Given the description of an element on the screen output the (x, y) to click on. 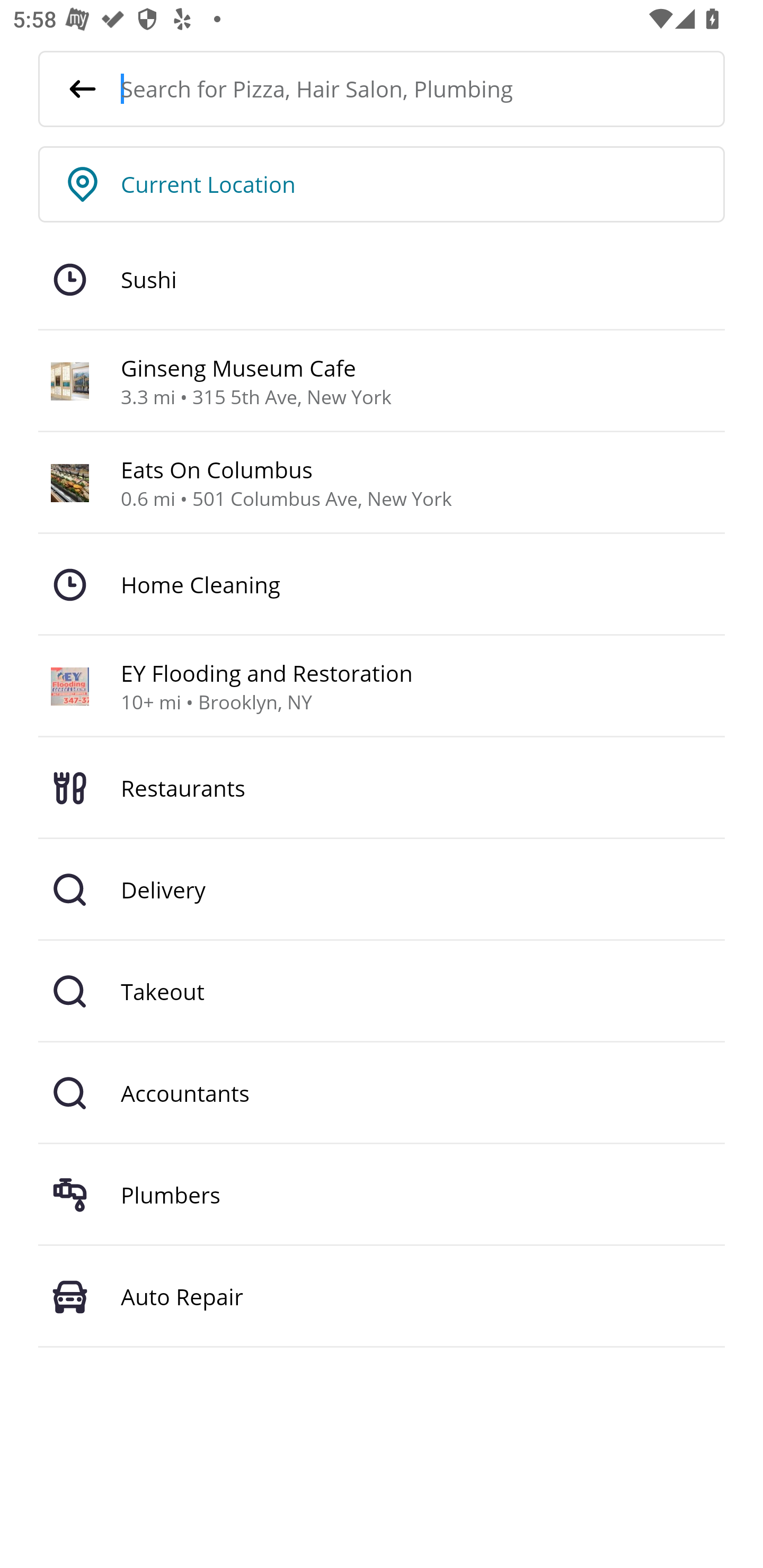
Current Location (422, 184)
